Given the description of an element on the screen output the (x, y) to click on. 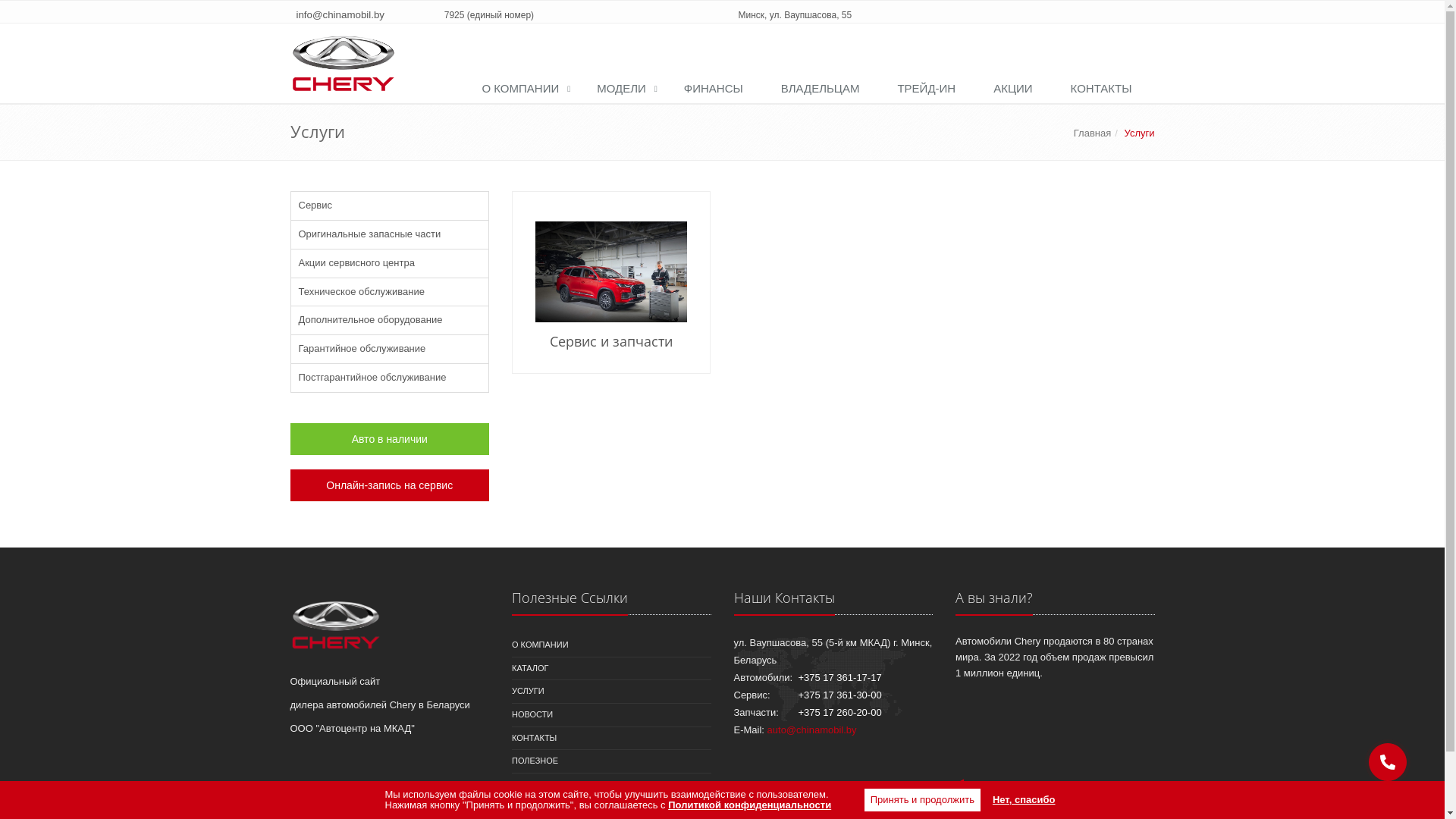
+375 17 260-20-00 Element type: text (839, 712)
+375 17 361-30-00 Element type: text (839, 694)
beltechsoft.by Element type: text (1097, 792)
info@chinamobil.by Element type: text (339, 14)
auto@chinamobil.by Element type: text (811, 729)
+375 17 361-17-17 Element type: text (839, 677)
